Given the description of an element on the screen output the (x, y) to click on. 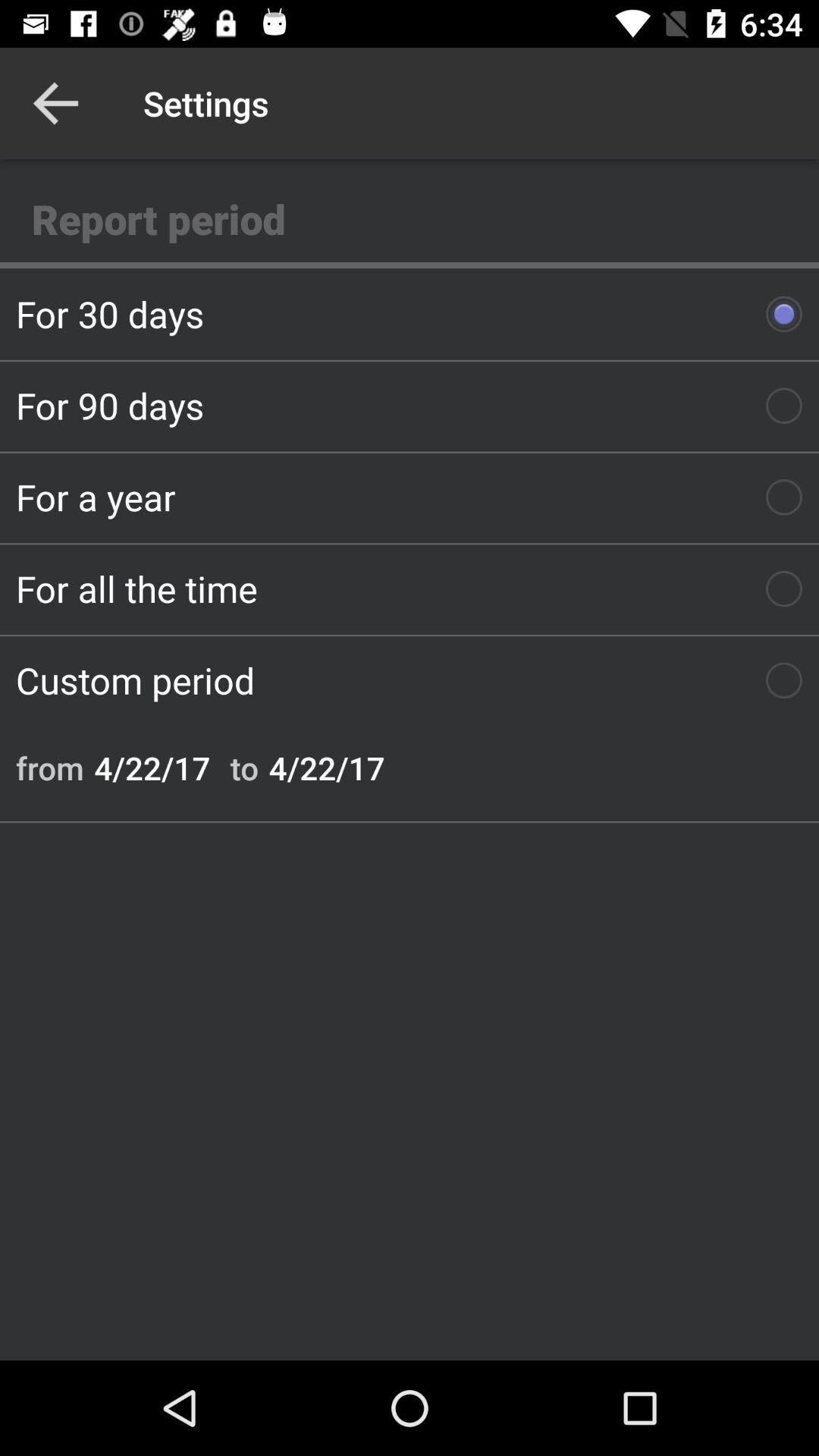
tap the icon next to settings app (55, 103)
